Given the description of an element on the screen output the (x, y) to click on. 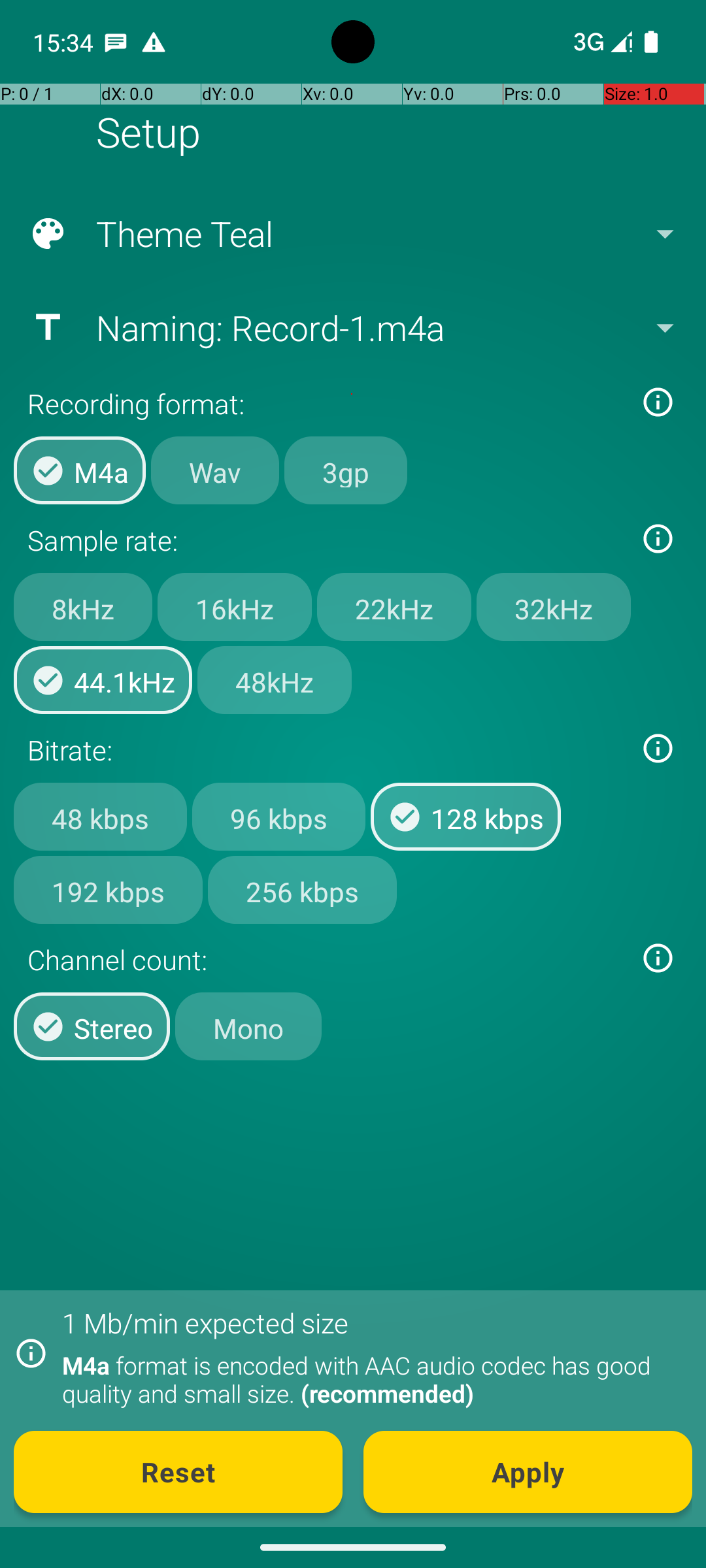
1 Mb/min expected size Element type: android.widget.TextView (205, 1322)
M4a format is encoded with AAC audio codec has good quality and small size. (recommended) Element type: android.widget.TextView (370, 1378)
Reset Element type: android.widget.Button (177, 1471)
Apply Element type: android.widget.Button (527, 1471)
Setup Element type: android.widget.TextView (148, 131)
Recording format: Element type: android.widget.TextView (325, 403)
M4a Element type: android.widget.TextView (79, 470)
Wav Element type: android.widget.TextView (215, 470)
3gp Element type: android.widget.TextView (345, 470)
Sample rate: Element type: android.widget.TextView (325, 539)
44.1kHz Element type: android.widget.TextView (102, 680)
16kHz Element type: android.widget.TextView (234, 606)
22kHz Element type: android.widget.TextView (394, 606)
32kHz Element type: android.widget.TextView (553, 606)
48kHz Element type: android.widget.TextView (274, 680)
8kHz Element type: android.widget.TextView (82, 606)
Bitrate: Element type: android.widget.TextView (325, 749)
128 kbps Element type: android.widget.TextView (465, 816)
192 kbps Element type: android.widget.TextView (107, 889)
256 kbps Element type: android.widget.TextView (301, 889)
48 kbps Element type: android.widget.TextView (99, 816)
96 kbps Element type: android.widget.TextView (278, 816)
Channel count: Element type: android.widget.TextView (325, 959)
Stereo Element type: android.widget.TextView (91, 1026)
Mono Element type: android.widget.TextView (248, 1026)
Theme Teal Element type: android.widget.TextView (352, 233)
Naming: Record-1.m4a Element type: android.widget.TextView (352, 327)
SMS Messenger notification:  Element type: android.widget.ImageView (115, 41)
Phone three bars. Element type: android.widget.FrameLayout (600, 41)
